Given the description of an element on the screen output the (x, y) to click on. 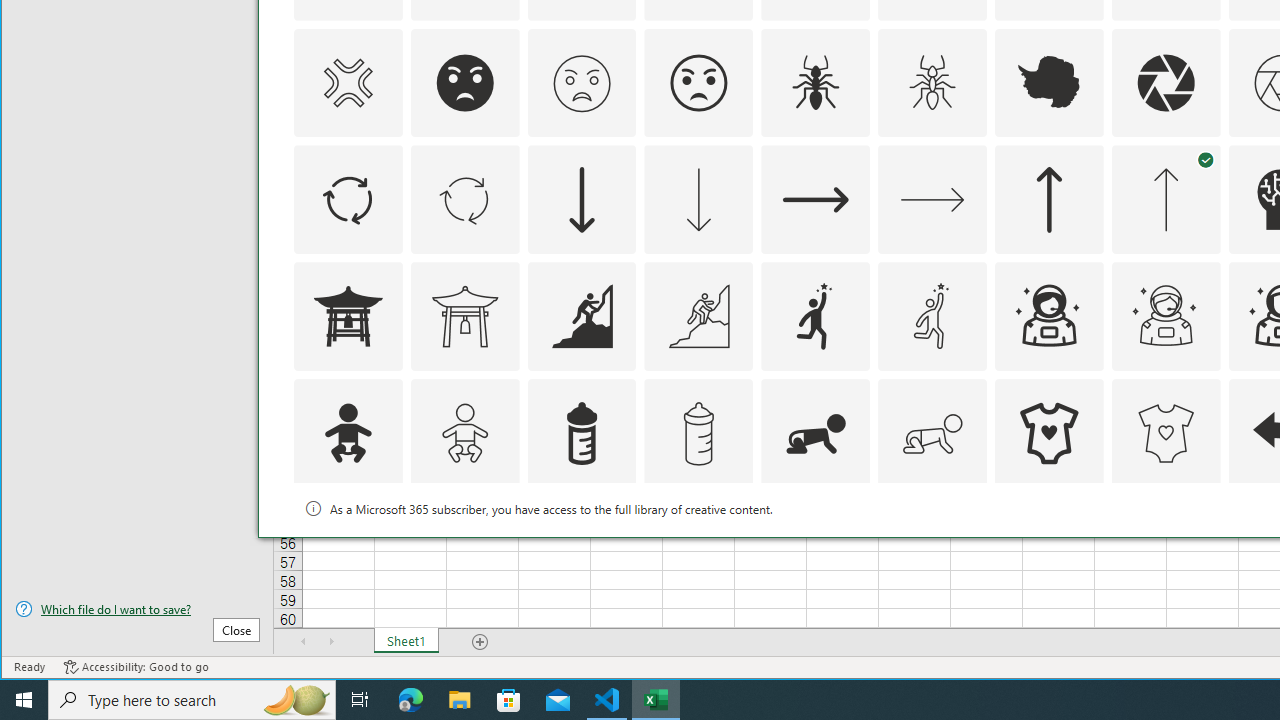
AutomationID: Icons_ArrowRight (815, 200)
Microsoft Edge (411, 699)
AutomationID: Icons_AngryFace (464, 82)
Start (24, 699)
AutomationID: Icons_Ant_M (932, 82)
AutomationID: Icons_AstronautFemale_M (1165, 316)
AutomationID: Icons_ArrowCircle (348, 200)
AutomationID: Icons_Antarctica (1048, 82)
Search highlights icon opens search home window (295, 699)
AutomationID: Icons_Badge4 (932, 550)
AutomationID: Icons_Aspiration (582, 316)
